Given the description of an element on the screen output the (x, y) to click on. 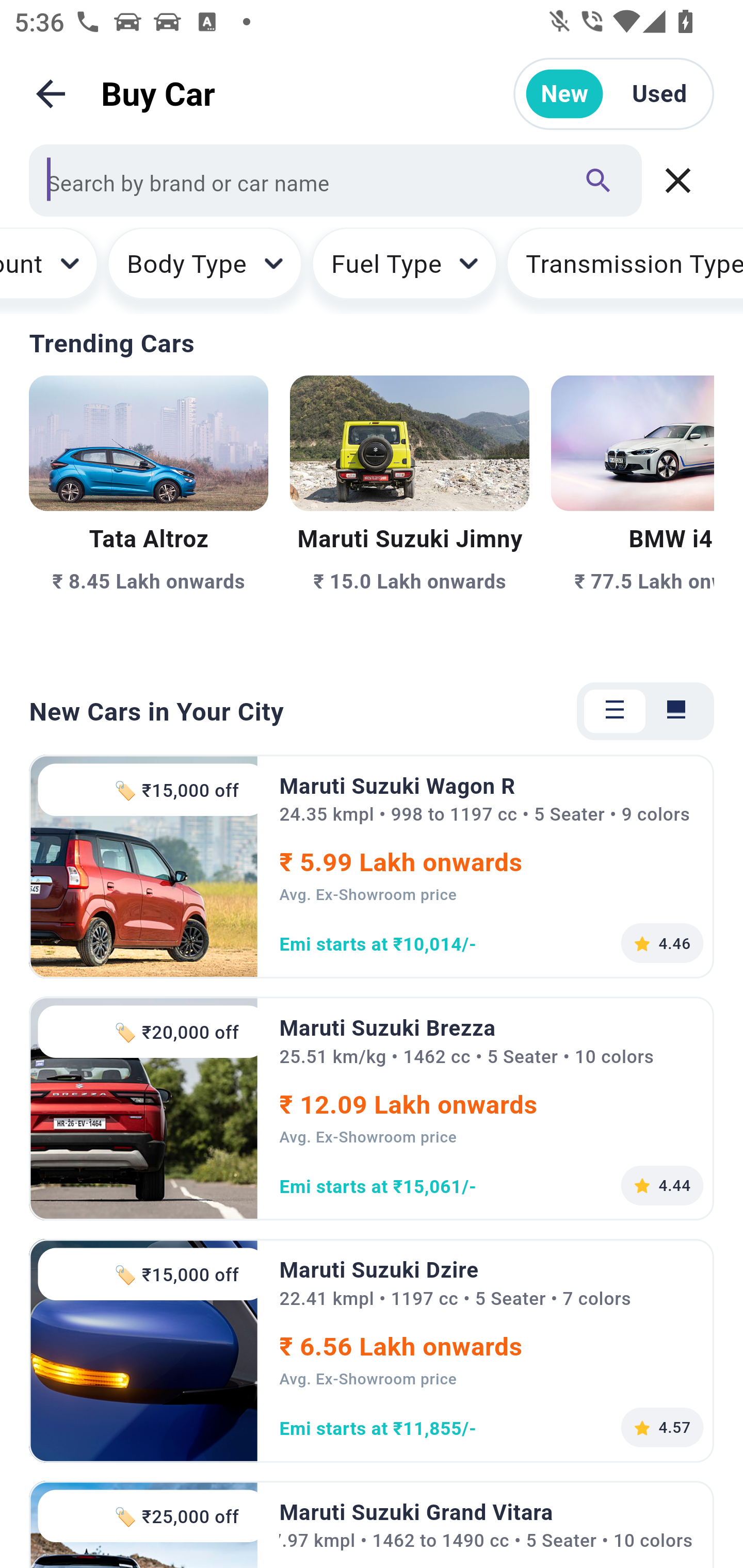
Back (50, 93)
New (564, 93)
Used (659, 93)
Body Type (204, 270)
Fuel Type (404, 270)
Transmission Type (624, 270)
₹ 8.45 Lakh onwards Tata Altroz (148, 515)
₹ 15.0 Lakh onwards Maruti Suzuki Jimny (409, 515)
₹ 77.5 Lakh onwards BMW i4 (632, 515)
Tab 1 of 2 (614, 710)
Tab 2 of 2 (675, 710)
